Given the description of an element on the screen output the (x, y) to click on. 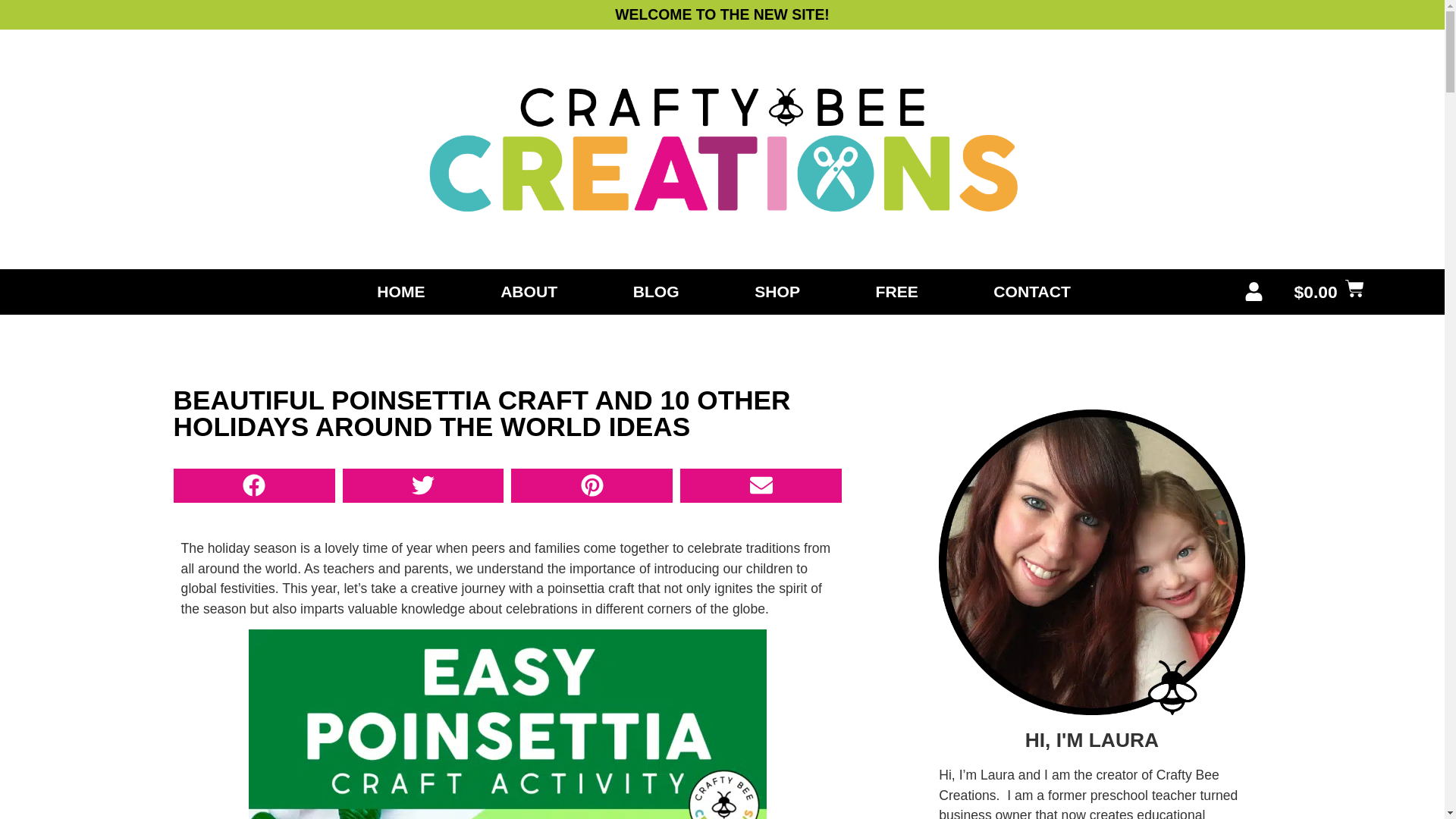
BLOG (655, 291)
FREE (897, 291)
CONTACT (1032, 291)
ABOUT (529, 291)
SHOP (776, 291)
HOME (401, 291)
